Given the description of an element on the screen output the (x, y) to click on. 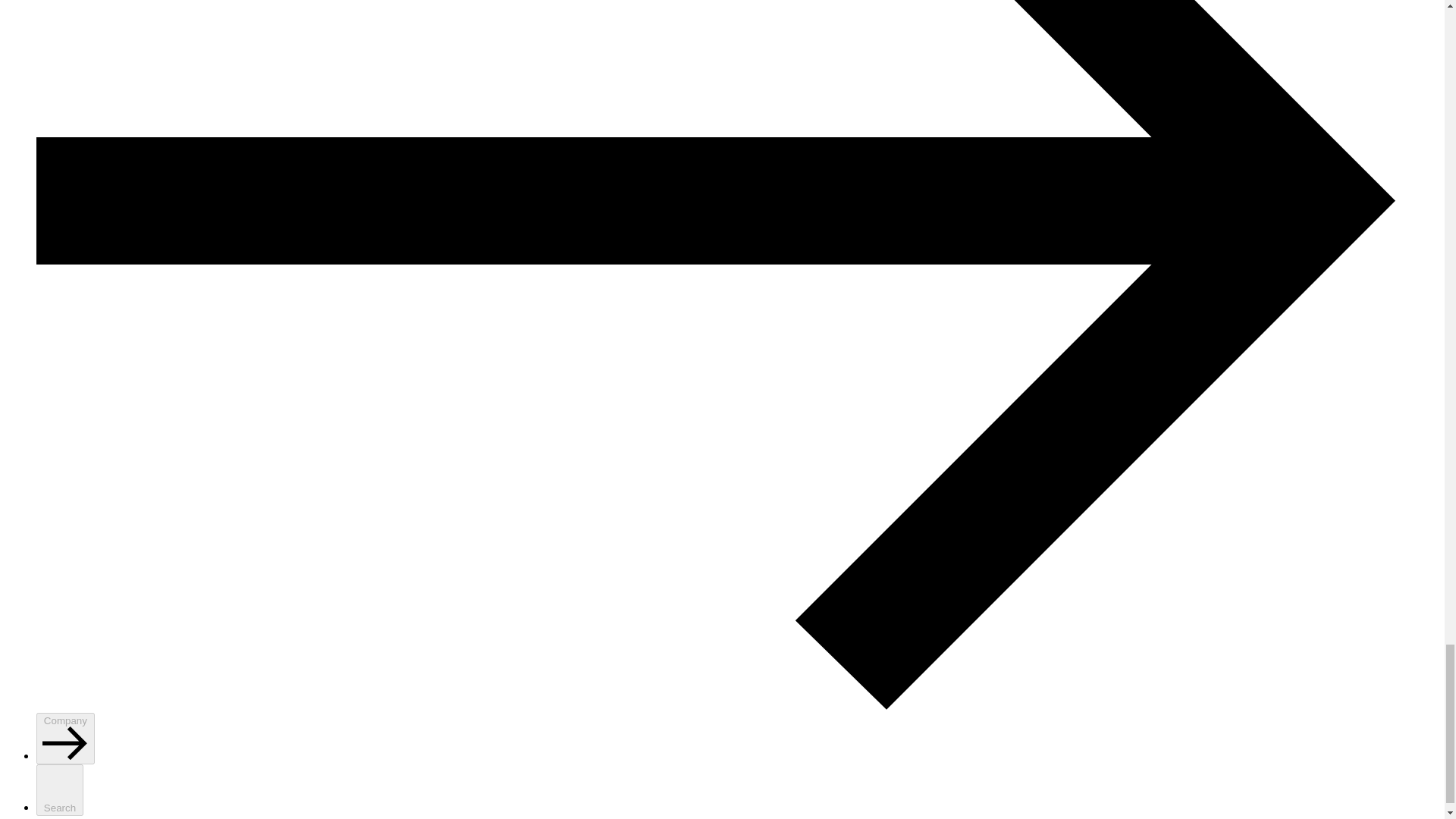
Search (59, 789)
Search (59, 789)
Company (65, 738)
